Given the description of an element on the screen output the (x, y) to click on. 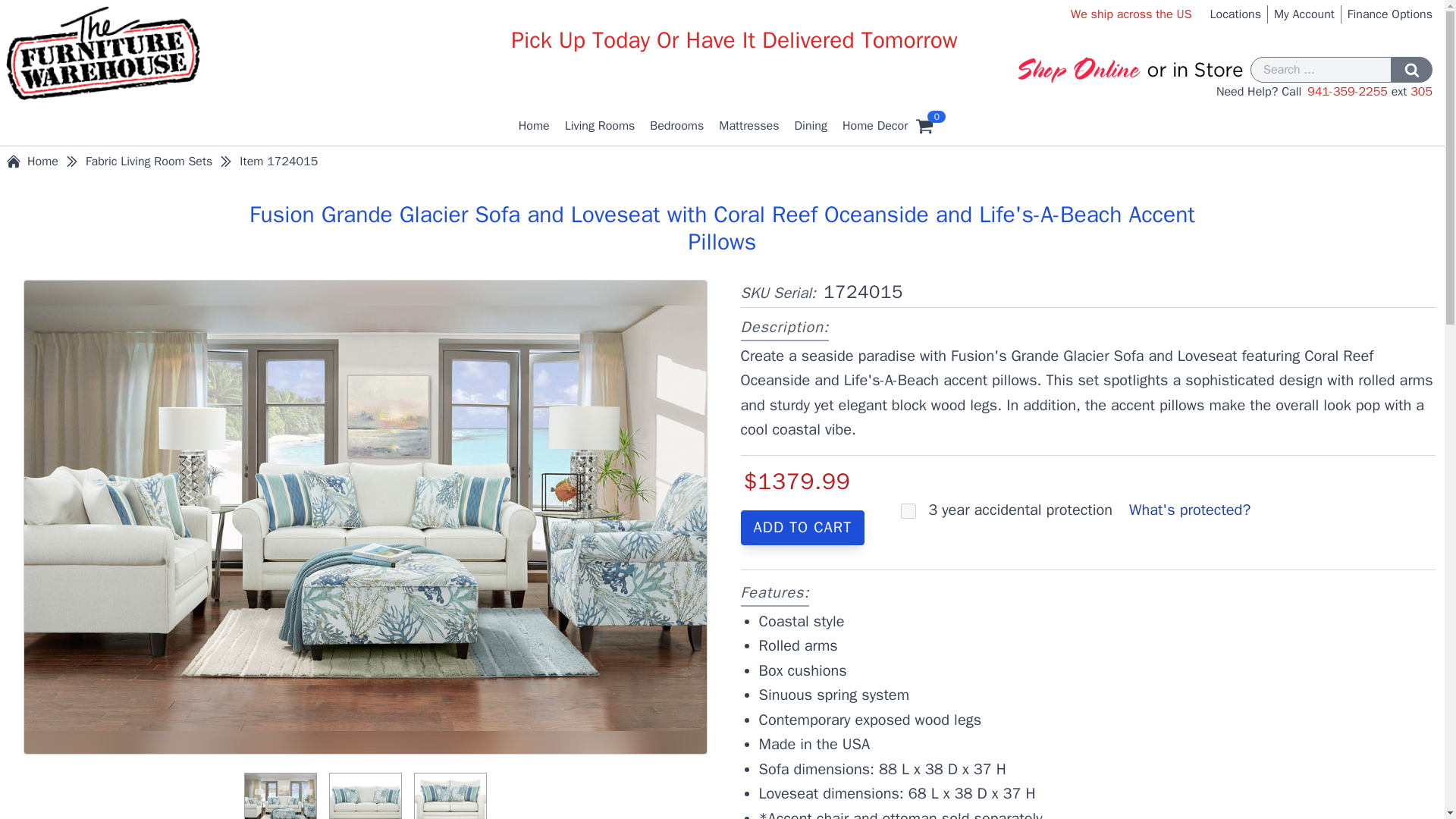
My Account (1304, 14)
941-359-2255 ext 305 (1369, 91)
Locations (1234, 14)
yes (908, 510)
Home (534, 125)
Add to Cart (801, 527)
Finance Options (1390, 14)
Living Rooms (600, 125)
